Given the description of an element on the screen output the (x, y) to click on. 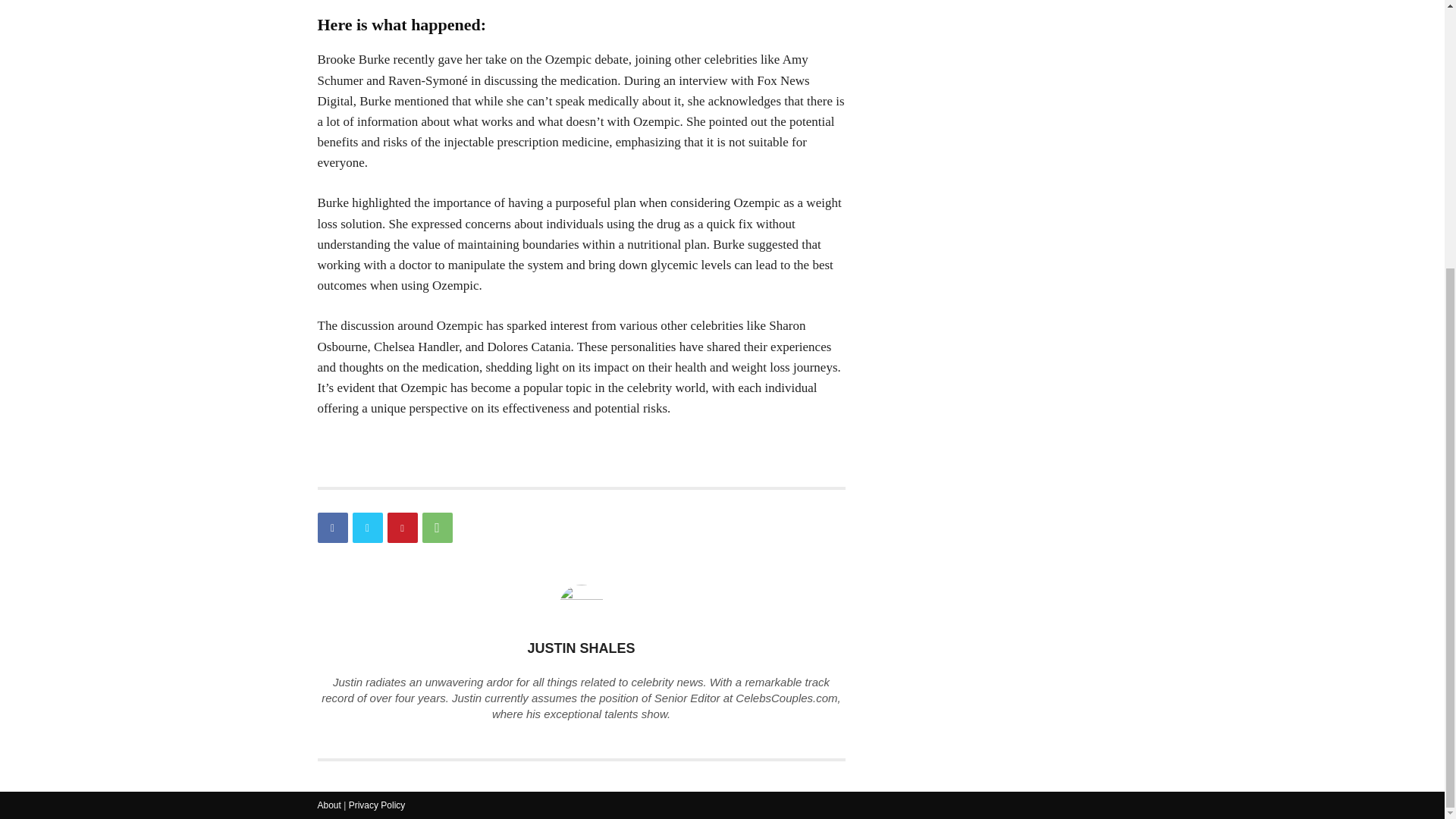
Facebook (332, 527)
About CelebsCouples (328, 805)
About (328, 805)
JUSTIN SHALES (580, 648)
Twitter (366, 527)
Pinterest (401, 527)
Privacy Policy (377, 805)
WhatsApp (436, 527)
Privacy Policy (377, 805)
